Given the description of an element on the screen output the (x, y) to click on. 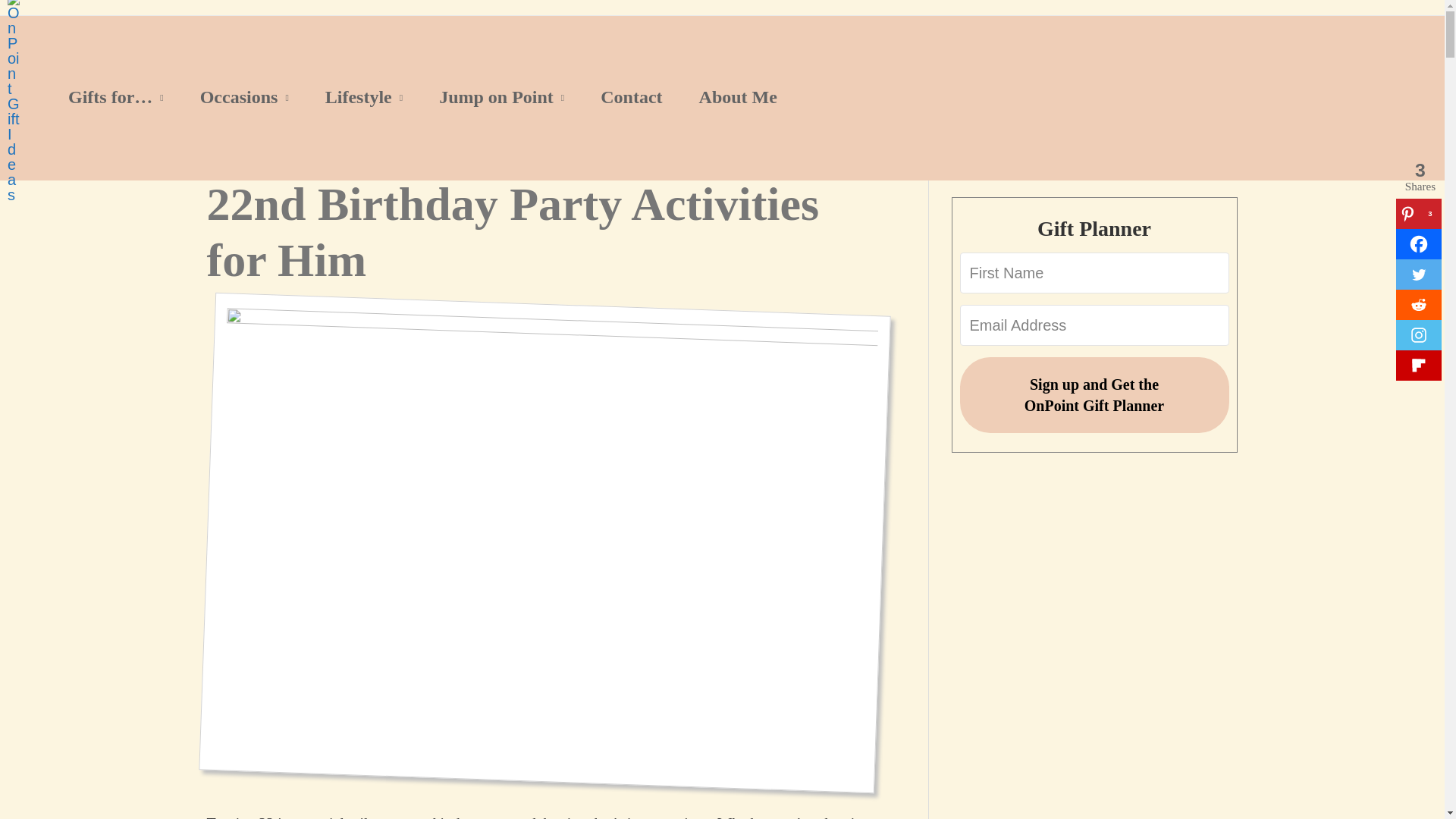
Total Shares (1419, 176)
Flipboard (1418, 365)
Occasions (244, 97)
Lifestyle (363, 97)
Jump on Point (501, 97)
Instagram (1418, 335)
Facebook (1418, 244)
Pinterest (1418, 214)
Reddit (1418, 304)
Search (1184, 138)
Twitter (1418, 274)
Search (1184, 138)
